Given the description of an element on the screen output the (x, y) to click on. 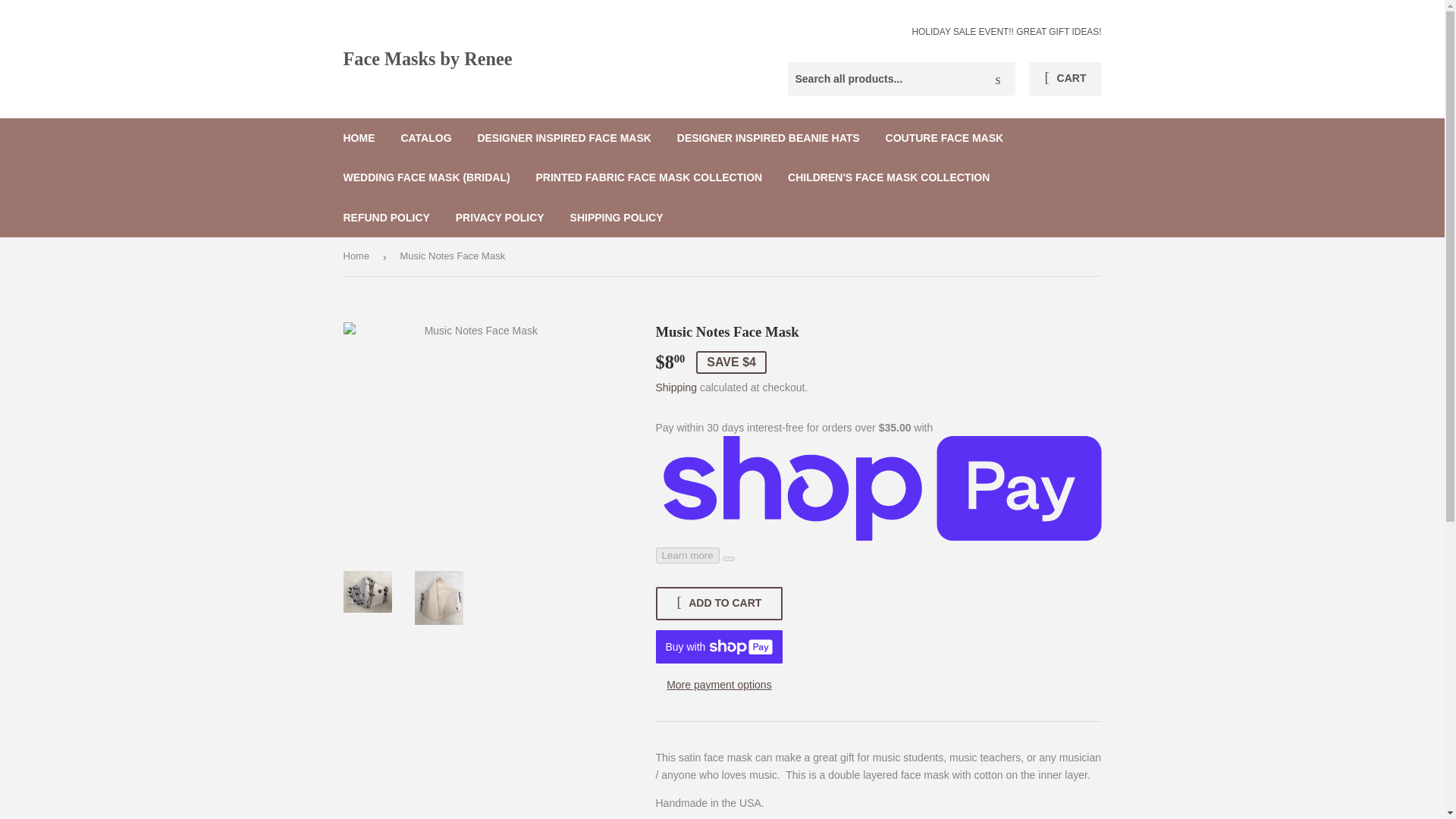
DESIGNER INSPIRED BEANIE HATS (767, 137)
Face Masks by Renee (532, 58)
PRIVACY POLICY (500, 217)
ADD TO CART (719, 603)
COUTURE FACE MASK (944, 137)
Search (997, 79)
PRINTED FABRIC FACE MASK COLLECTION (649, 177)
DESIGNER INSPIRED FACE MASK (563, 137)
CATALOG (425, 137)
SHIPPING POLICY (617, 217)
